Given the description of an element on the screen output the (x, y) to click on. 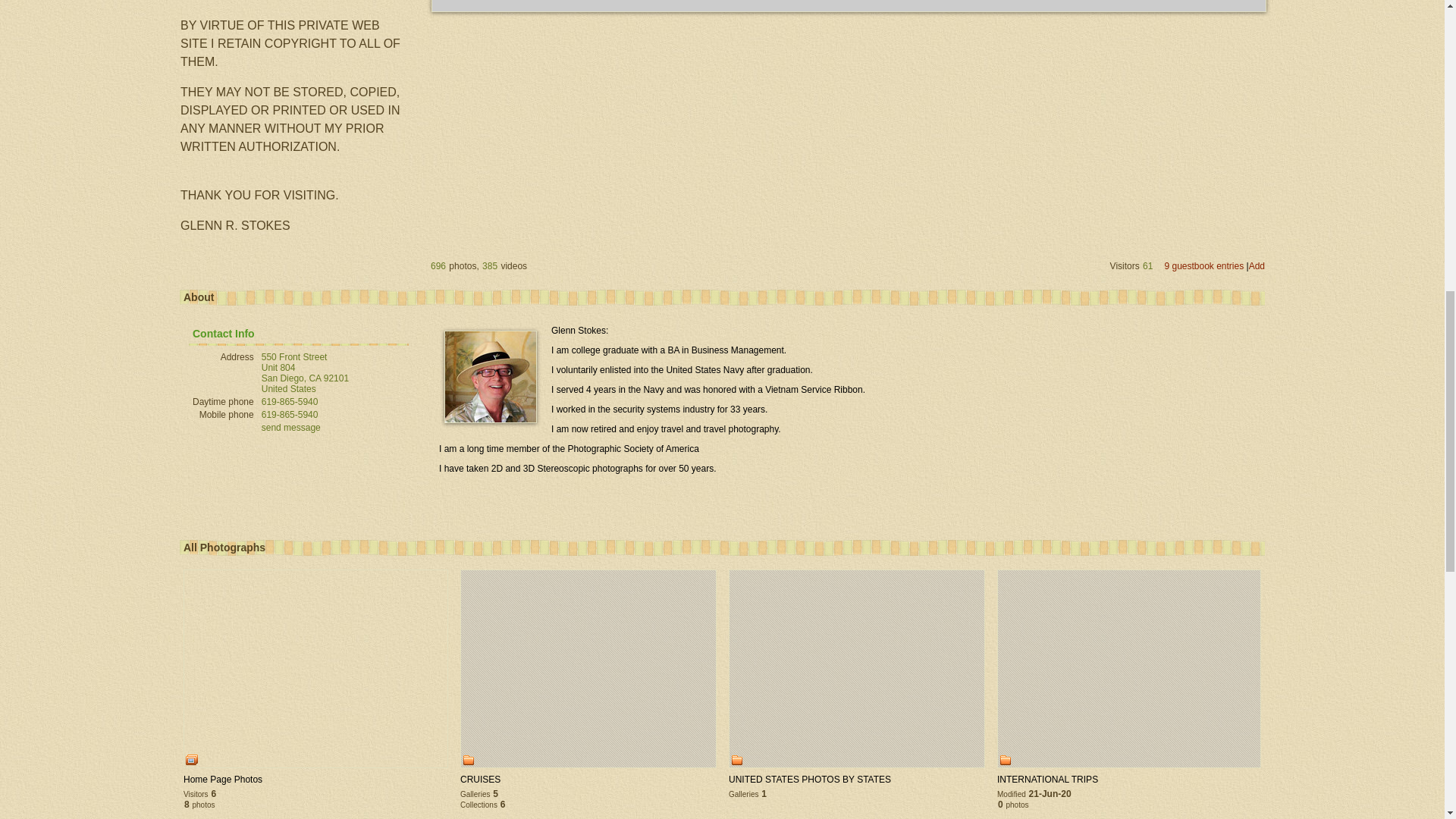
9 guestbook entries (1203, 266)
send message (291, 427)
Add (1257, 266)
